Given the description of an element on the screen output the (x, y) to click on. 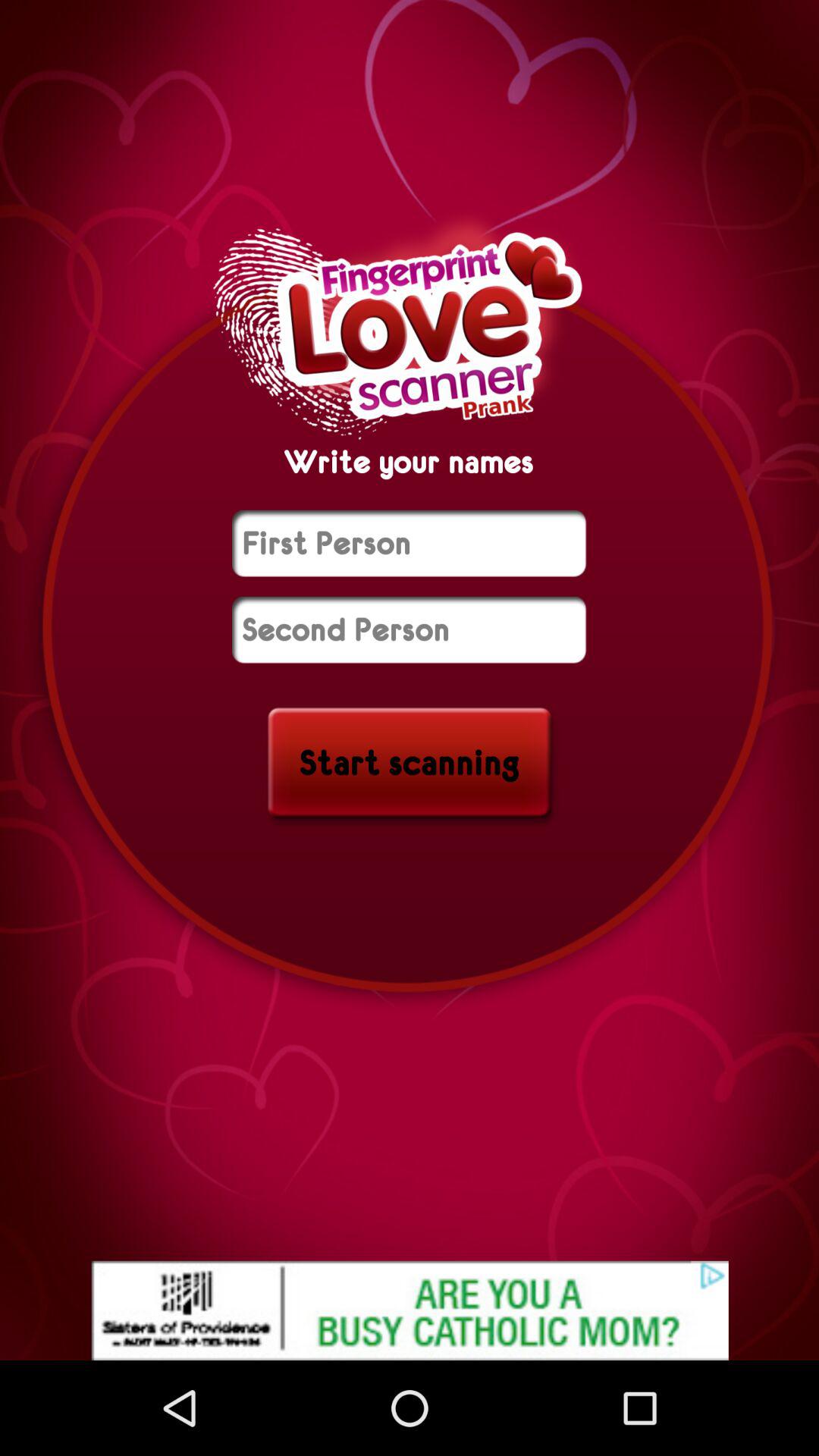
enter name of first person (409, 543)
